Given the description of an element on the screen output the (x, y) to click on. 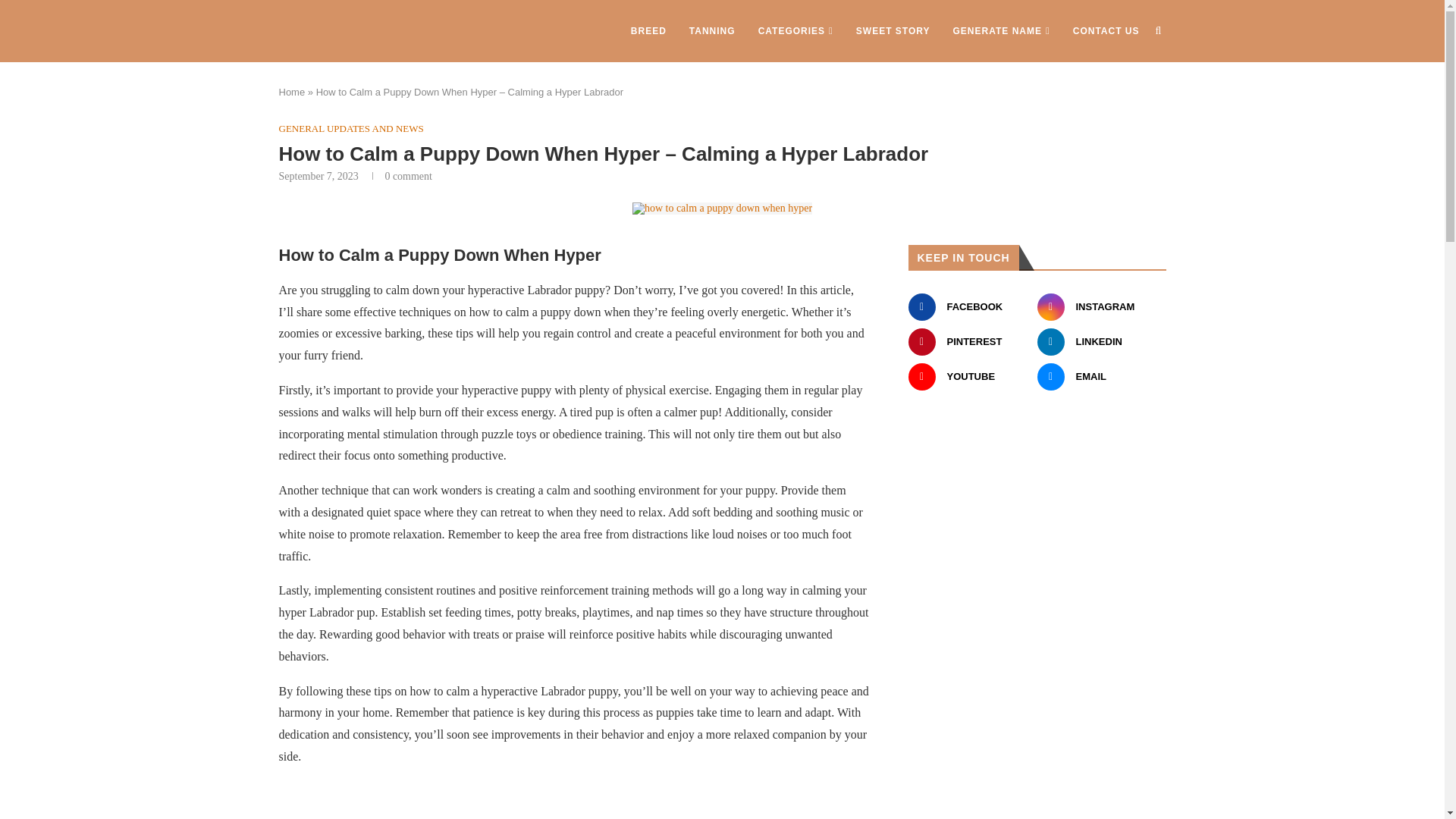
Home (292, 91)
how to calm a puppy down when hyper (721, 208)
GENERAL UPDATES AND NEWS (351, 128)
SWEET STORY (893, 30)
CATEGORIES (795, 30)
GENERATE NAME (1001, 30)
CONTACT US (1106, 30)
